Given the description of an element on the screen output the (x, y) to click on. 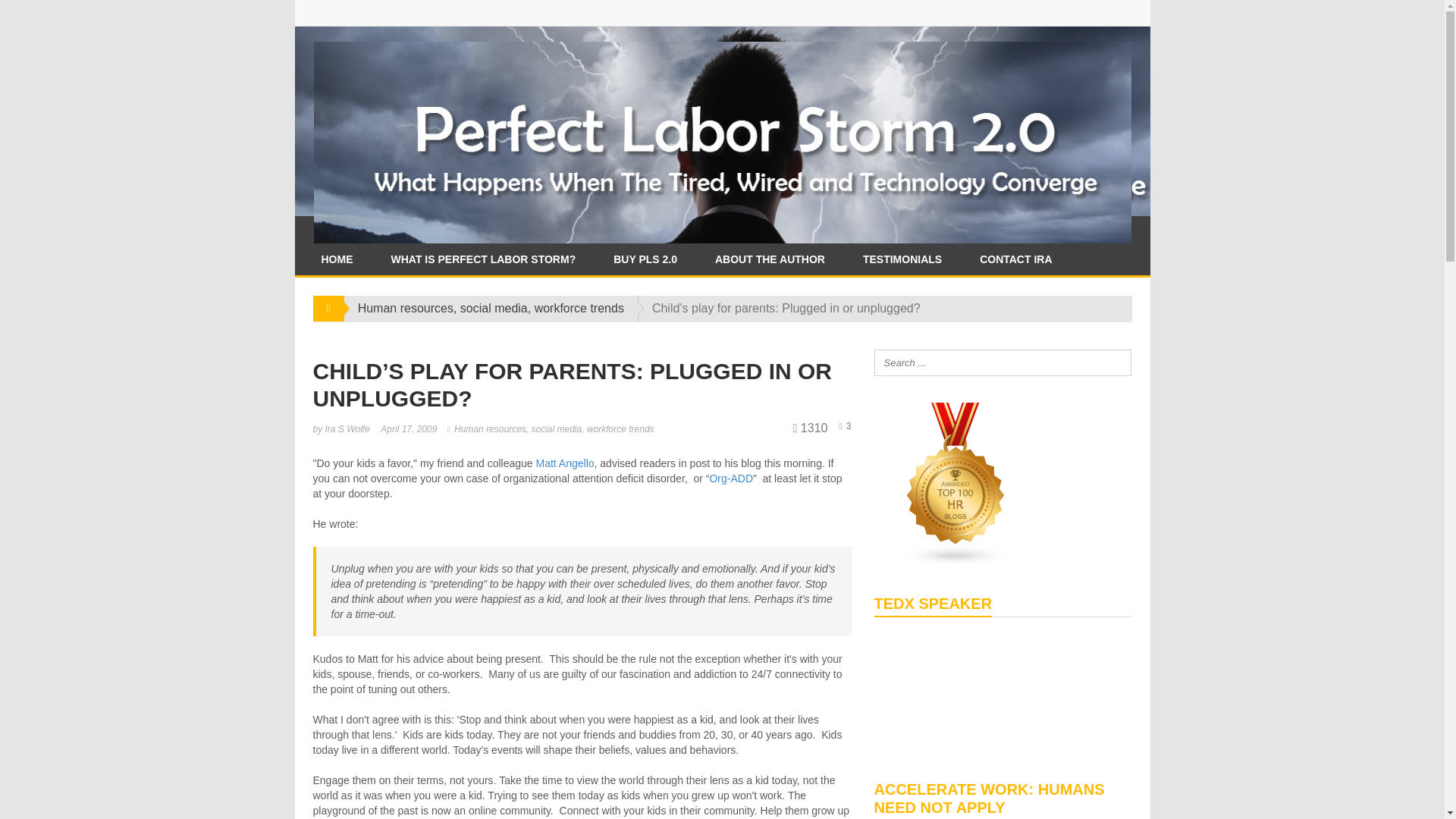
ABOUT THE AUTHOR (769, 259)
HR blogs (954, 482)
social media (493, 308)
Org-ADD (730, 478)
CONTACT IRA (1015, 259)
Human resources (489, 429)
social media (555, 429)
Ira S Wolfe (346, 429)
workforce trends (579, 308)
HOME (336, 259)
